Given the description of an element on the screen output the (x, y) to click on. 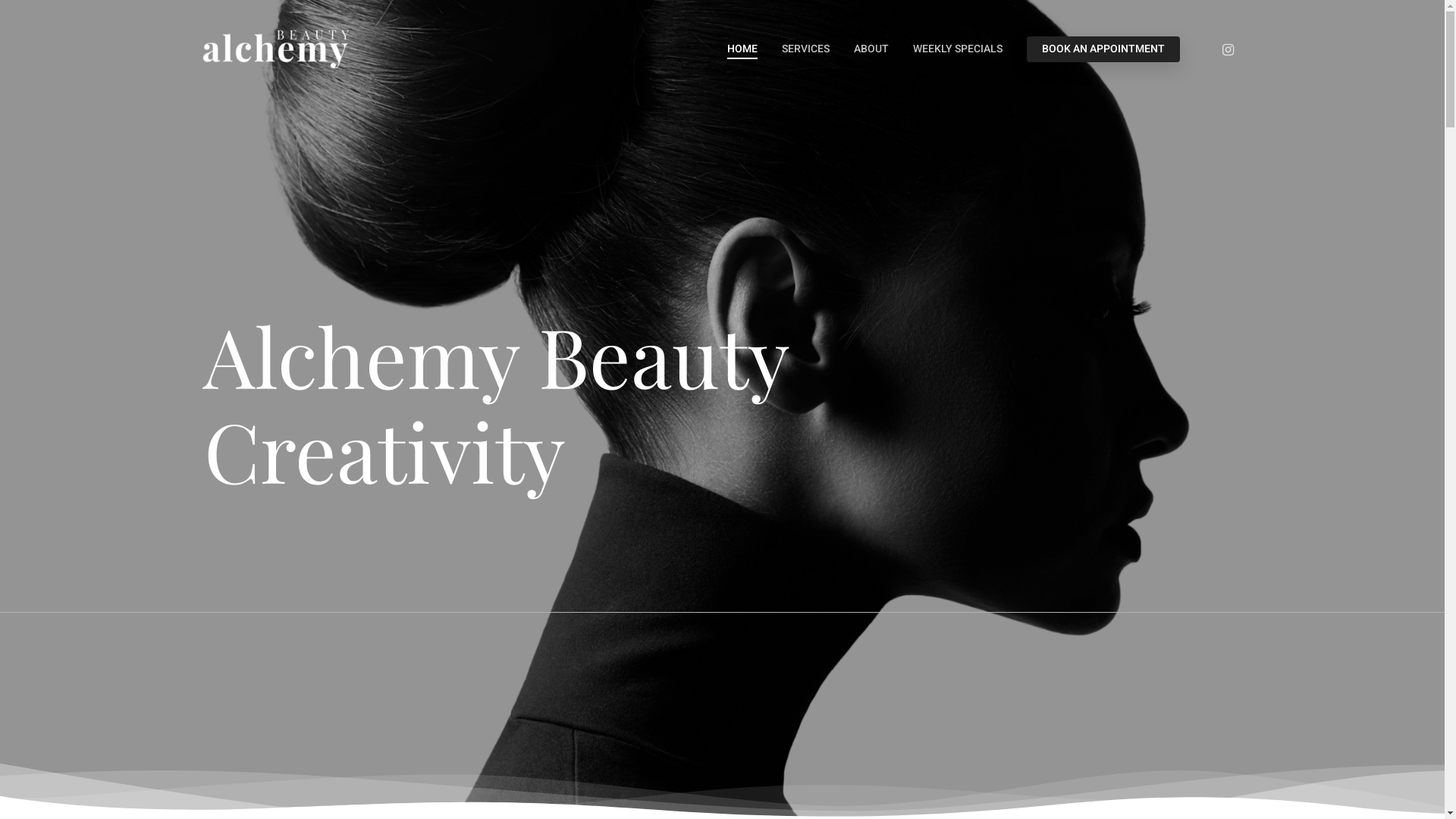
ABOUT Element type: text (870, 48)
SERVICES Element type: text (804, 48)
WEEKLY SPECIALS Element type: text (957, 48)
INSTAGRAM Element type: text (1228, 48)
HOME Element type: text (741, 48)
BOOK AN APPOINTMENT Element type: text (1102, 48)
